Given the description of an element on the screen output the (x, y) to click on. 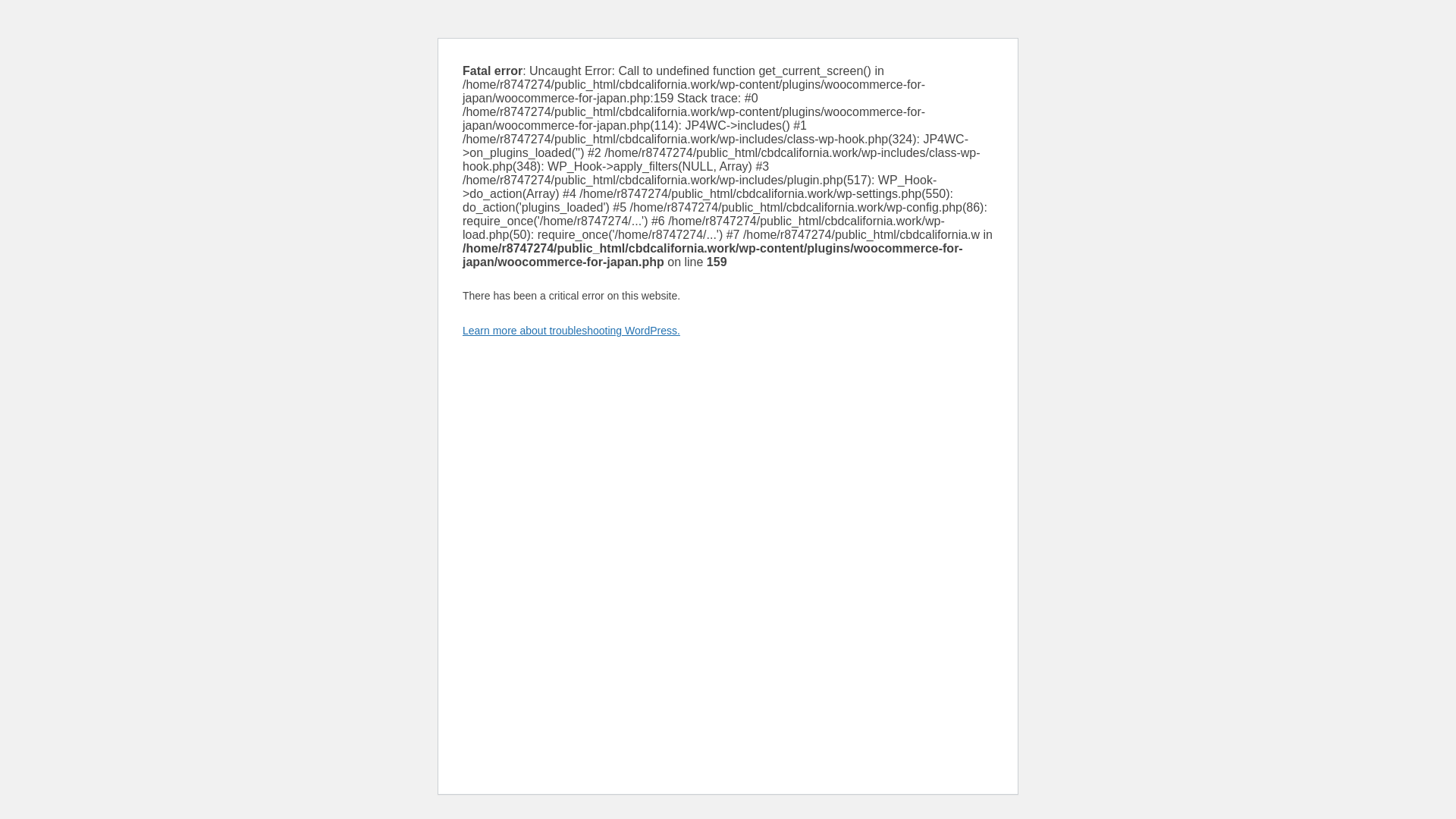
Learn more about troubleshooting WordPress. (571, 330)
